Given the description of an element on the screen output the (x, y) to click on. 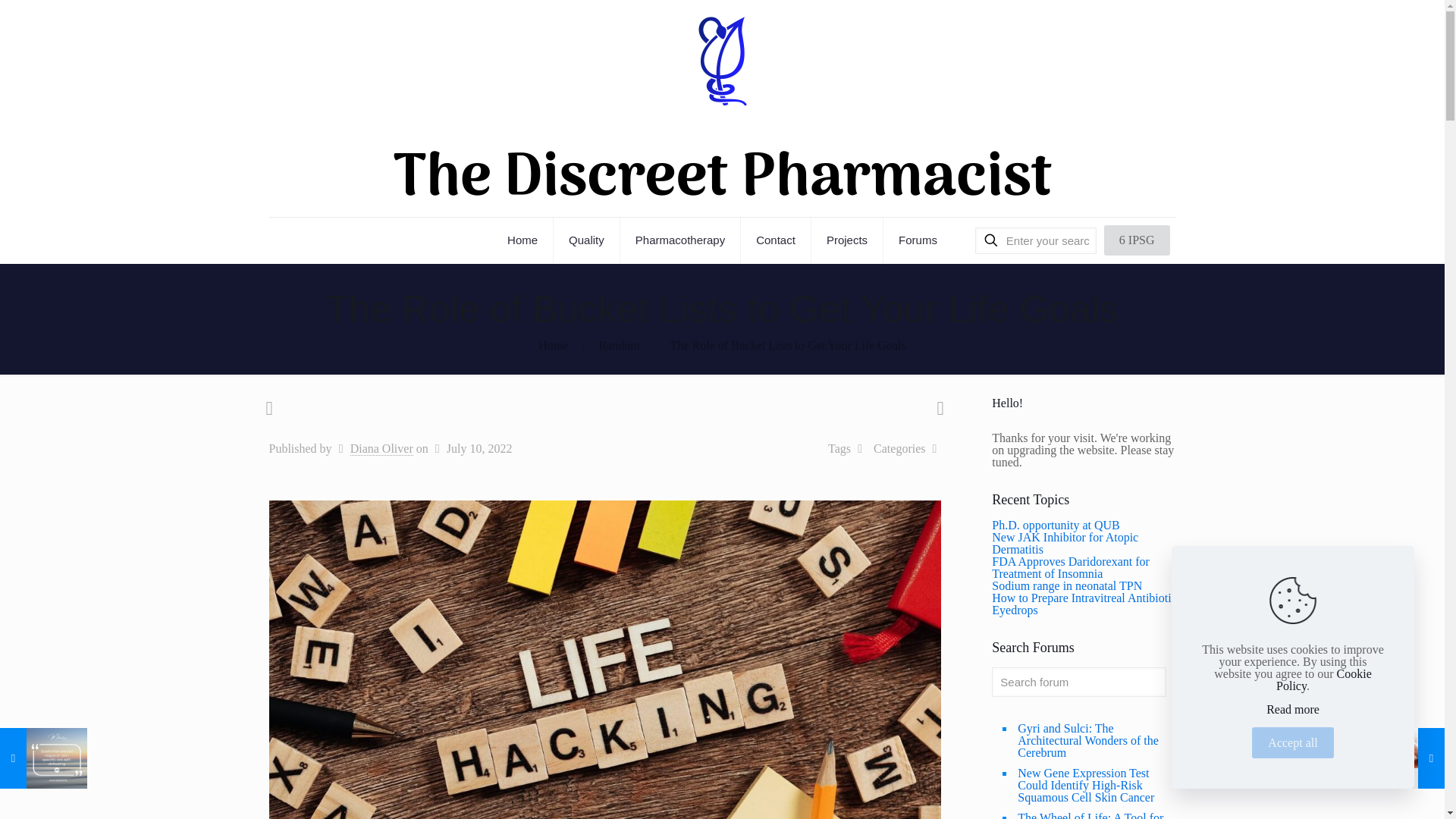
6 IPSG (1136, 239)
Pharmacotherapy (680, 239)
Quality (586, 239)
Contact (775, 239)
Example" The Role Of Bucket Lists to Get Your Life Goals (522, 239)
Projects (846, 239)
Diana Oliver (381, 448)
Home (522, 239)
The Role of Bucket Lists to Get Your Life Goals (787, 345)
Home (552, 345)
